Given the description of an element on the screen output the (x, y) to click on. 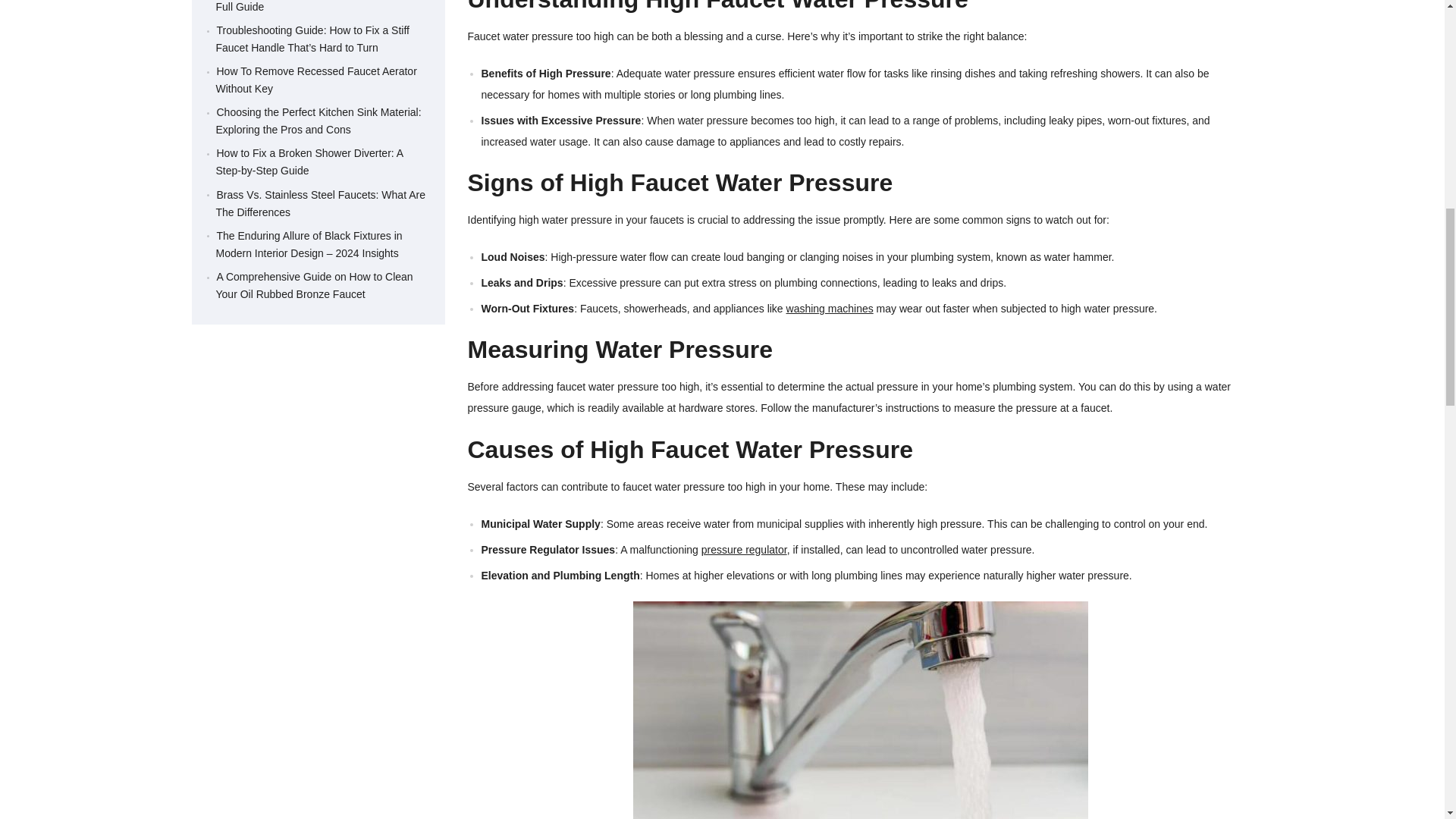
pressure regulator (744, 549)
washing machines (829, 308)
